Given the description of an element on the screen output the (x, y) to click on. 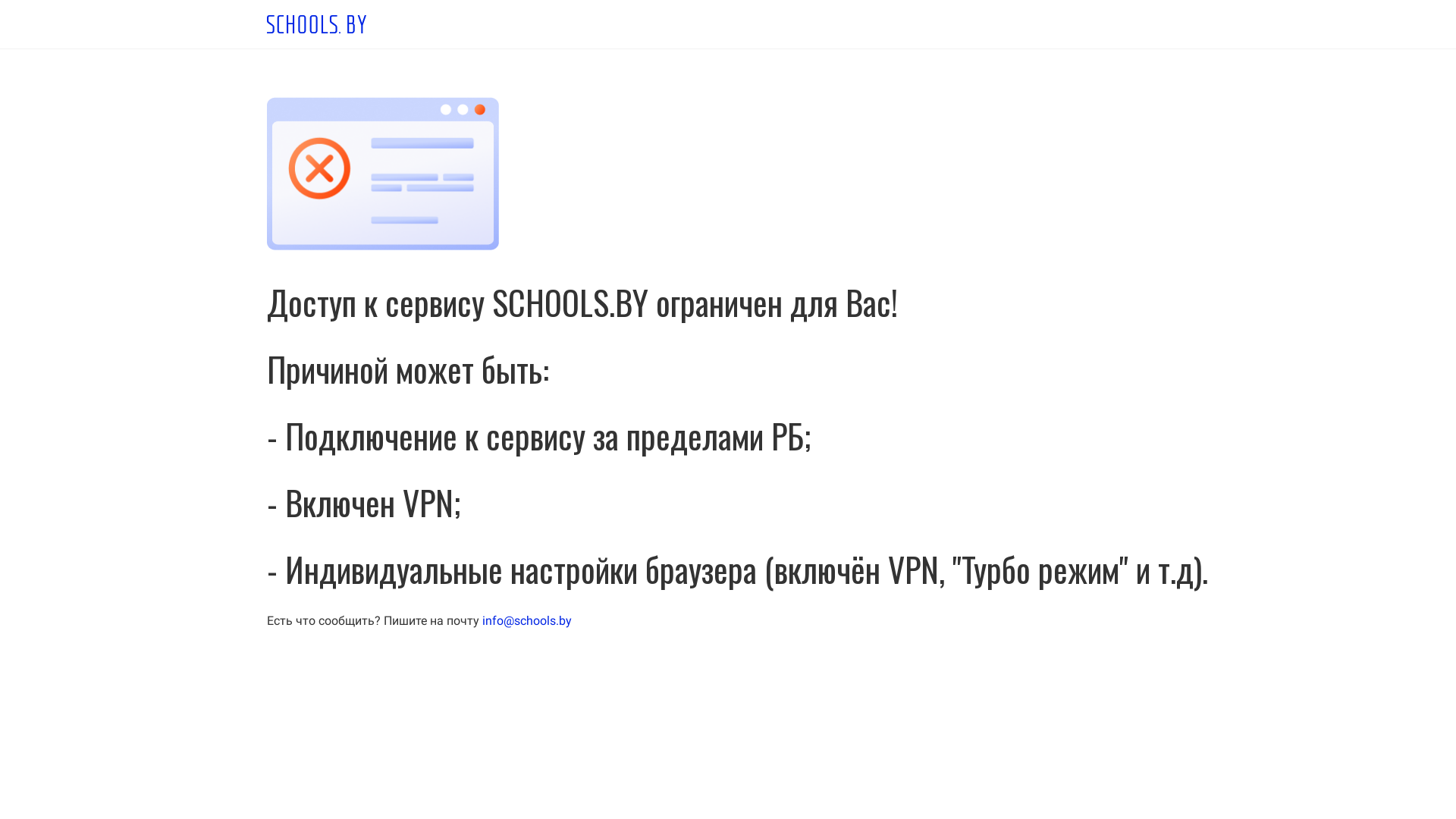
info@schools.by Element type: text (526, 620)
